Given the description of an element on the screen output the (x, y) to click on. 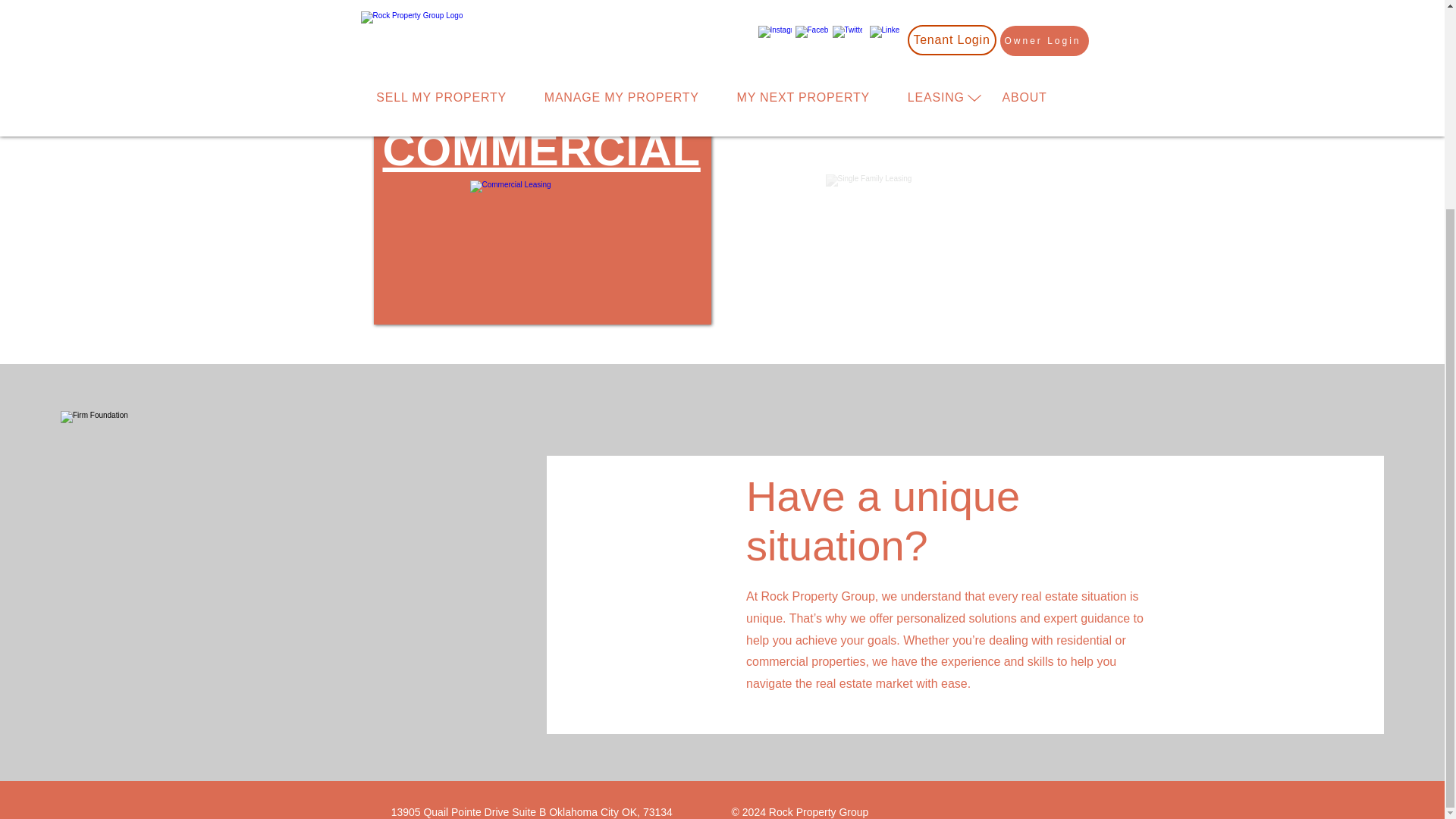
RESIDENTIAL (908, 149)
COMMERCIAL (540, 149)
